Given the description of an element on the screen output the (x, y) to click on. 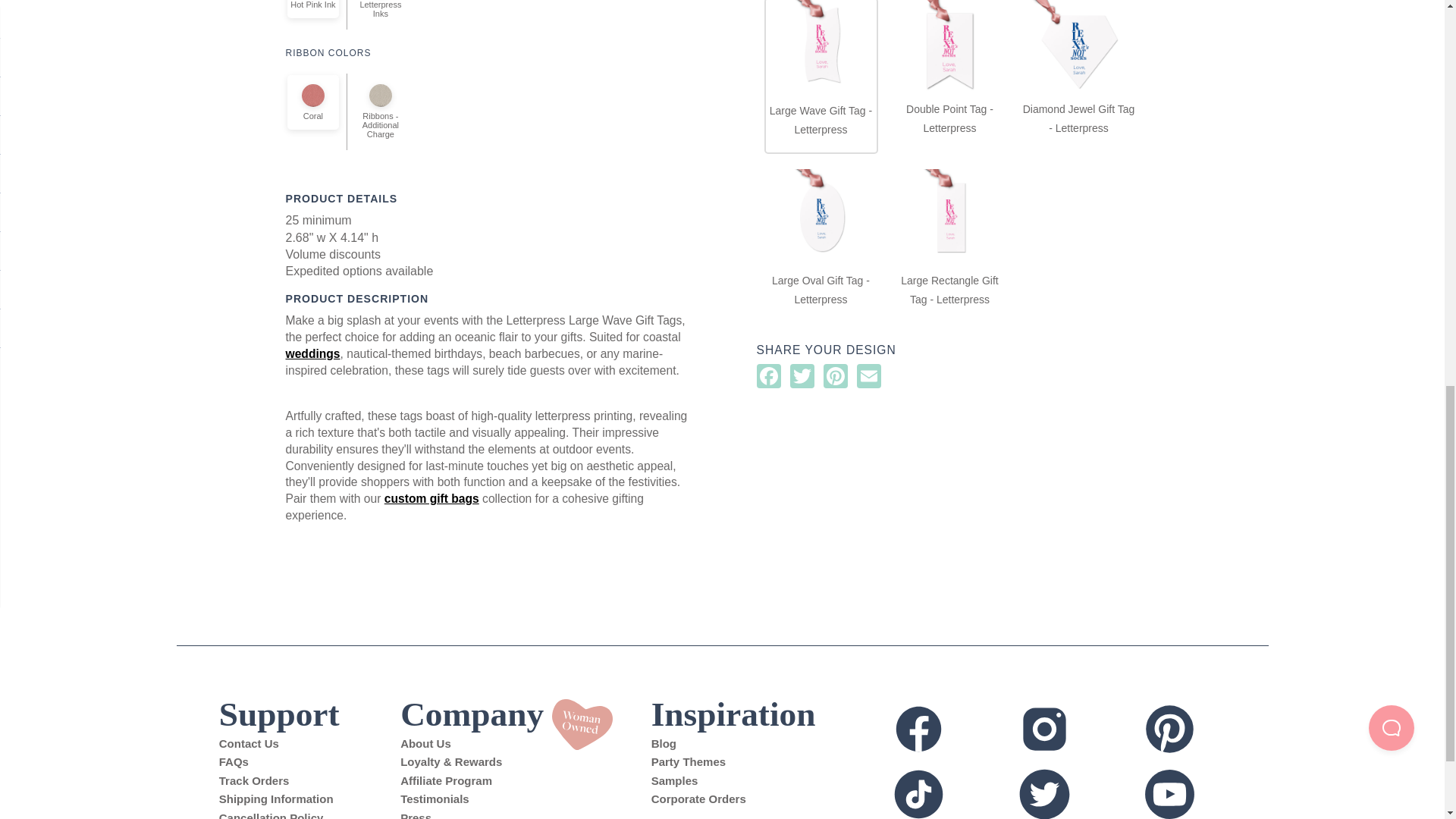
Facebook (942, 728)
TikTok (942, 791)
